Given the description of an element on the screen output the (x, y) to click on. 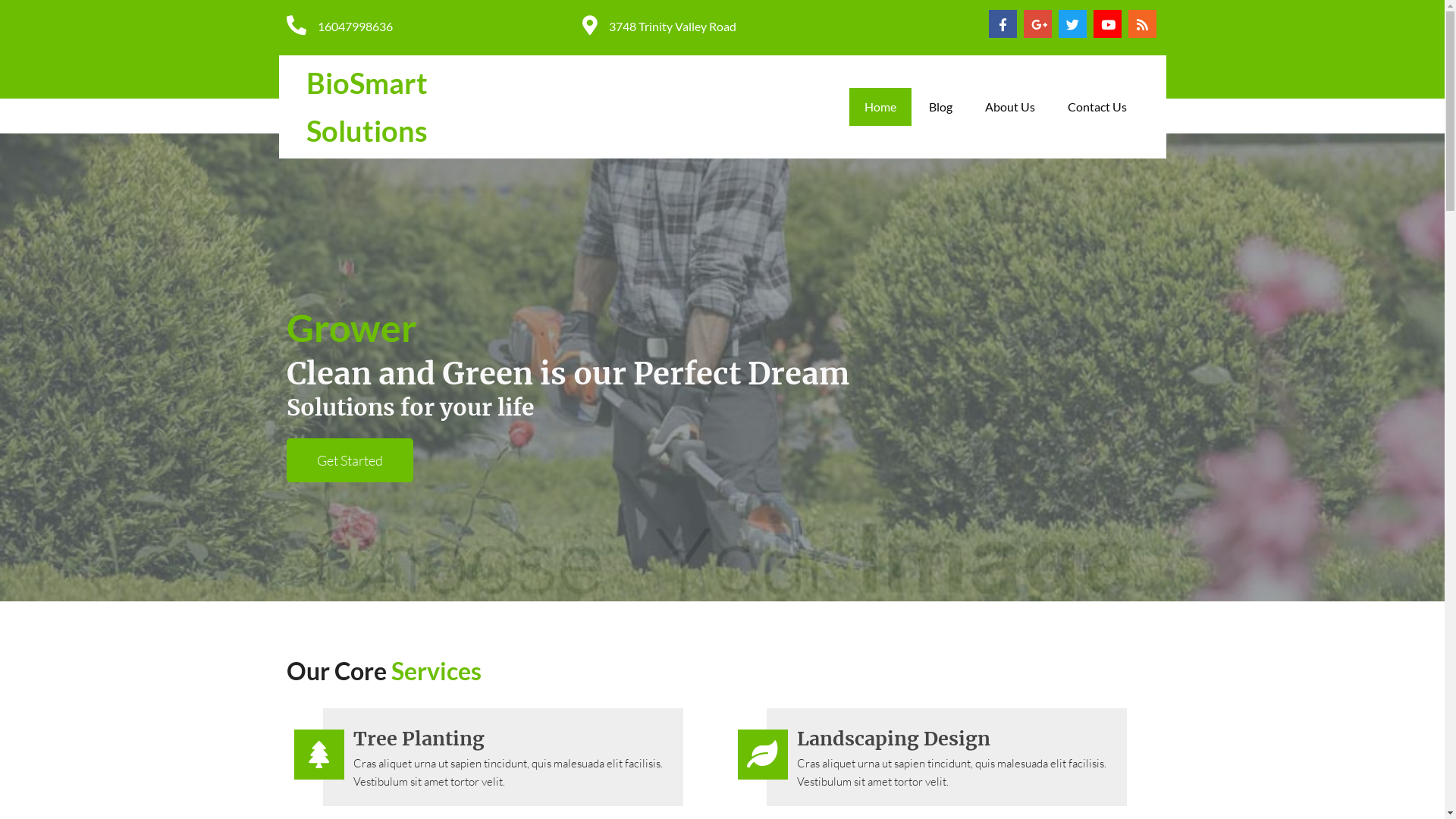
Home Element type: text (880, 106)
About Us Element type: text (1009, 106)
Blog Element type: text (939, 106)
BioSmart Solutions Element type: text (415, 106)
Get Started Element type: text (349, 460)
Contact Us Element type: text (1097, 106)
